Given the description of an element on the screen output the (x, y) to click on. 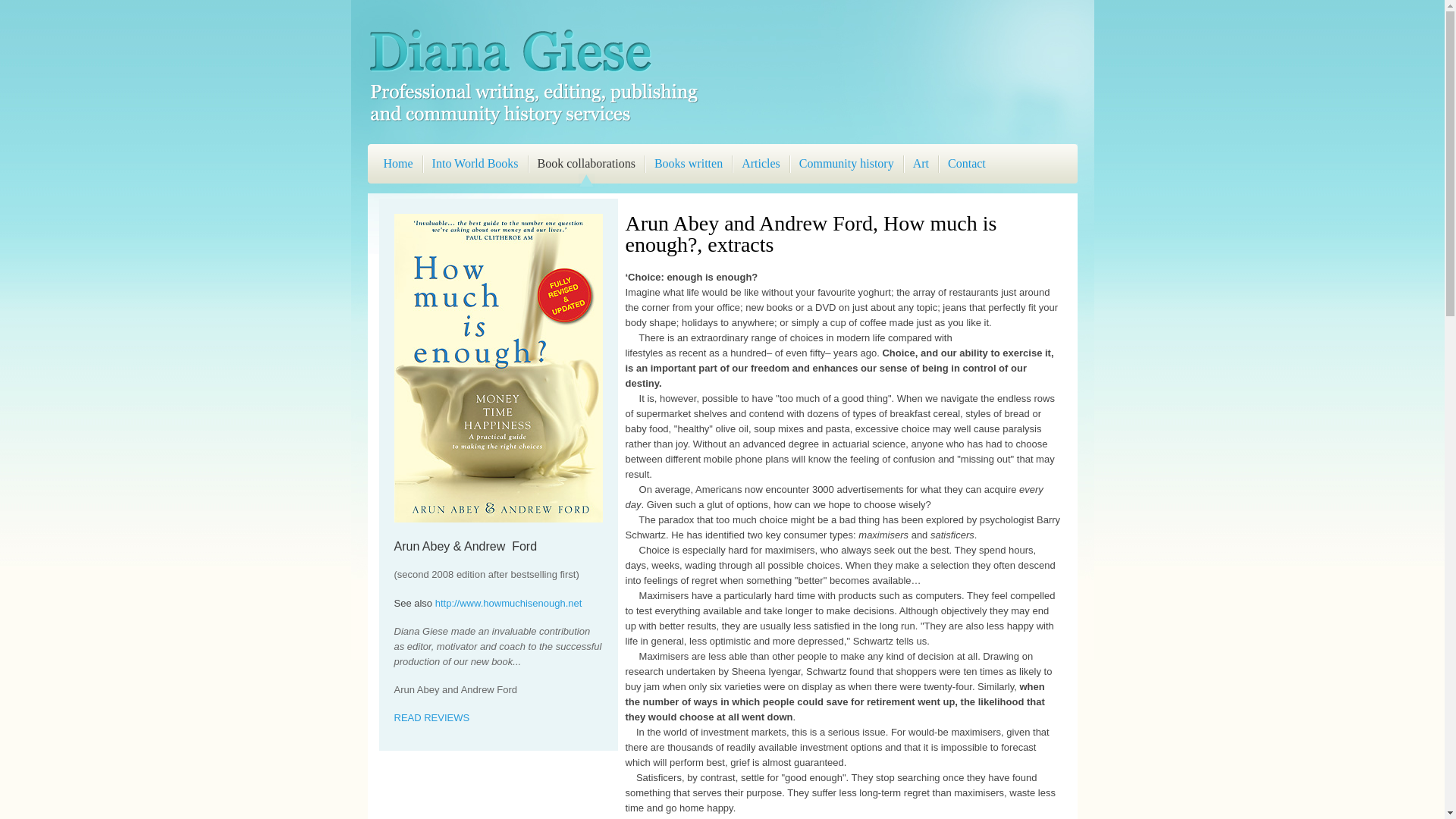
Into World Books Element type: text (475, 166)
Articles Element type: text (760, 166)
Art Element type: text (920, 166)
READ REVIEWS Element type: text (432, 717)
Home Element type: text (398, 166)
return home Element type: hover (532, 123)
Contact Element type: text (966, 166)
http://www.howmuchisenough.net Element type: text (508, 602)
